Given the description of an element on the screen output the (x, y) to click on. 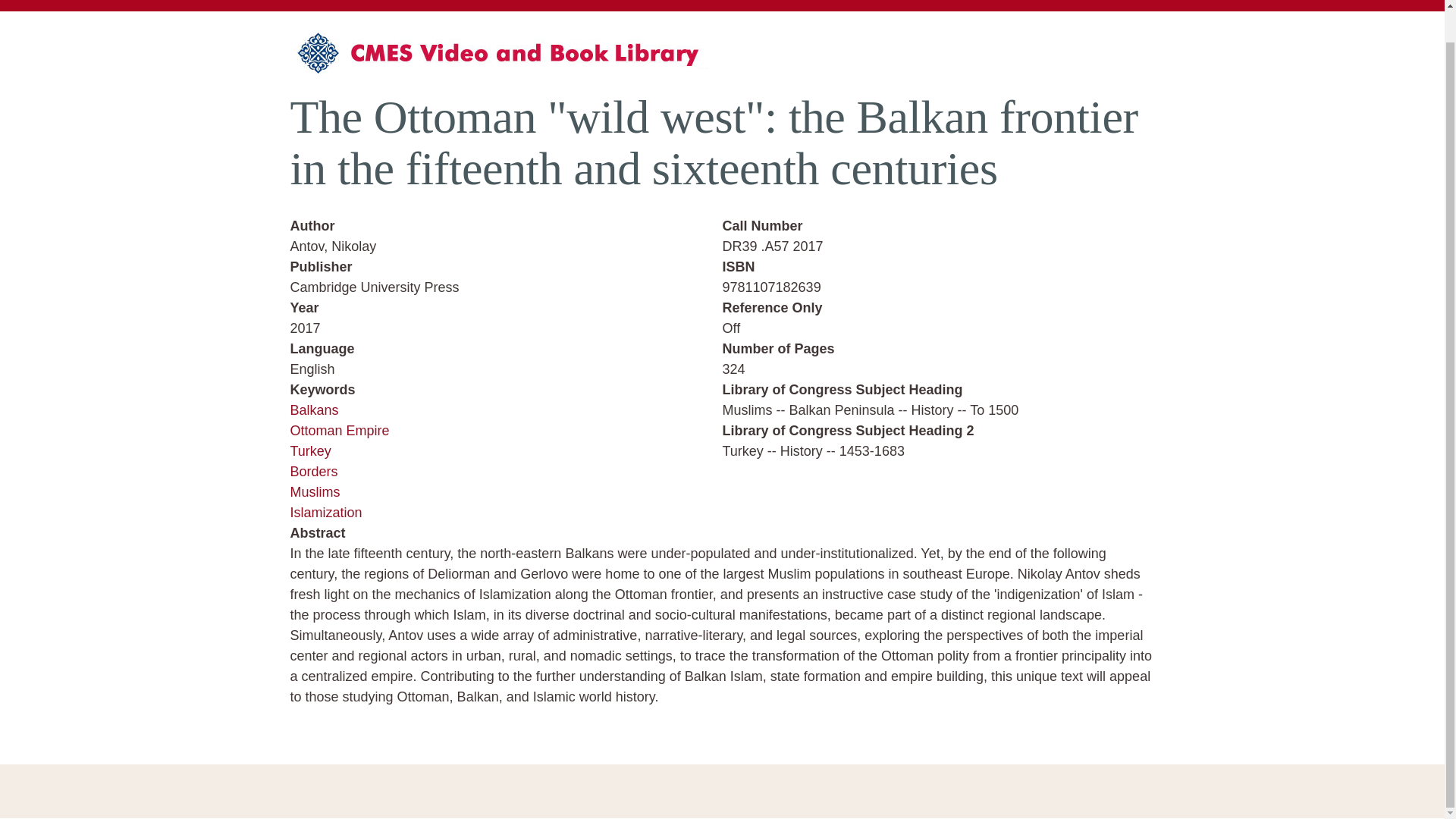
Home (505, 58)
Muslims (314, 491)
Borders (313, 471)
Ottoman Empire (338, 430)
Islamization (325, 512)
Balkans (313, 409)
Turkey (309, 450)
